Given the description of an element on the screen output the (x, y) to click on. 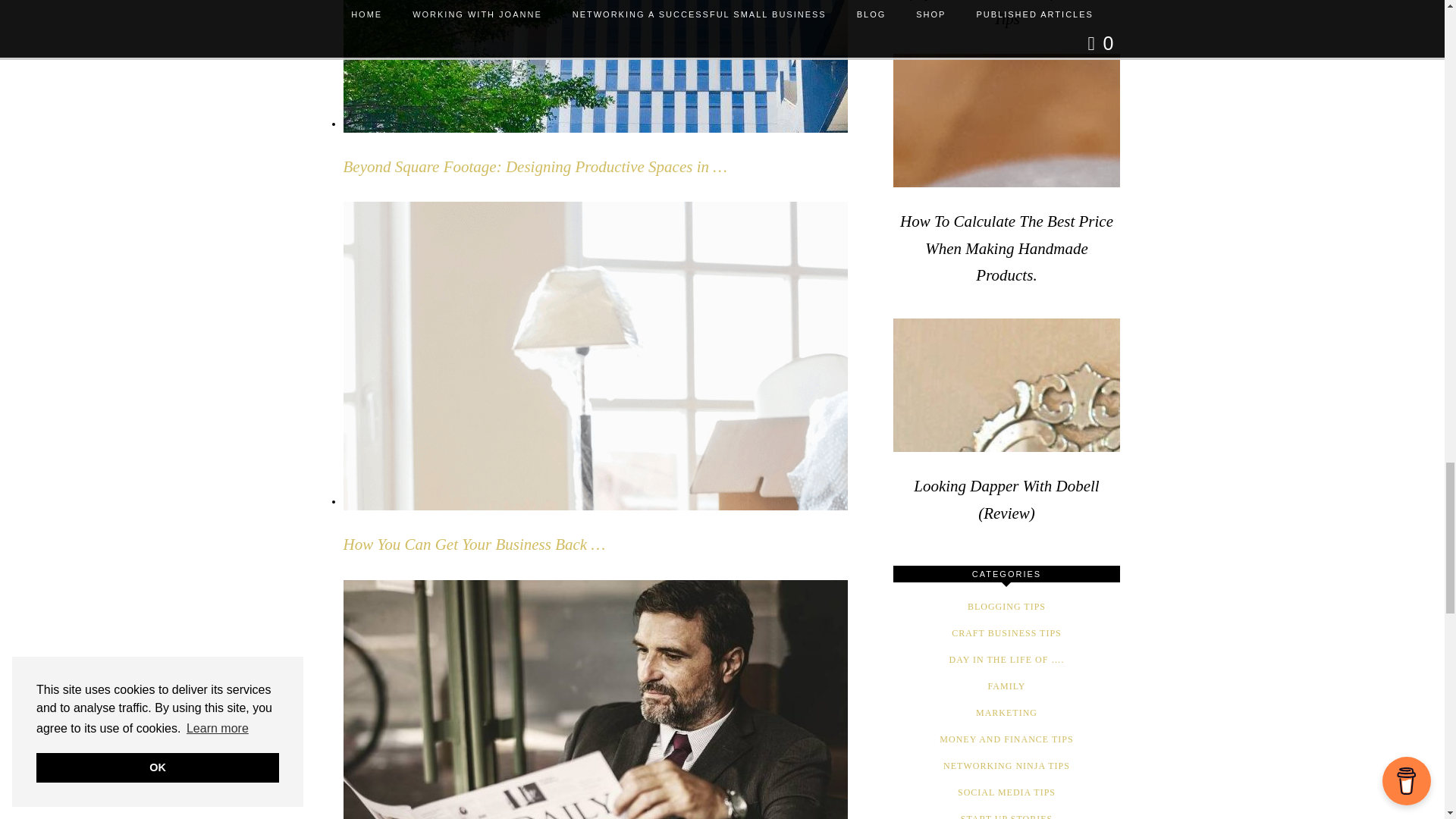
How You Can Get Your Business Back on Track After a Move (473, 544)
How You Can Get Your Business Back on Track After a Move (569, 501)
